Given the description of an element on the screen output the (x, y) to click on. 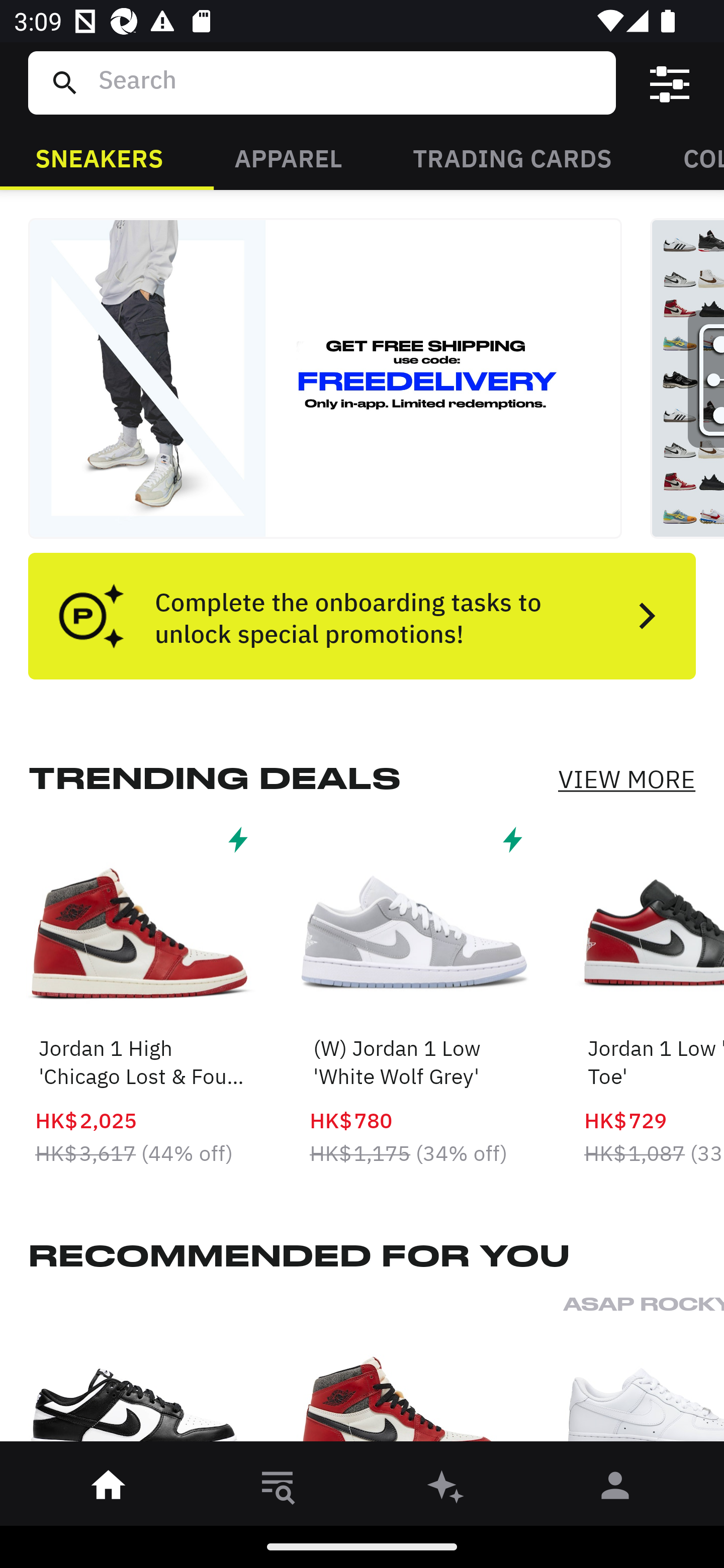
Search (349, 82)
 (669, 82)
SNEAKERS (99, 156)
APPAREL (287, 156)
TRADING CARDS (512, 156)
VIEW MORE (626, 779)
ASAP ROCKY (643, 1373)
󰋜 (108, 1488)
󱎸 (277, 1488)
󰫢 (446, 1488)
󰀄 (615, 1488)
